Given the description of an element on the screen output the (x, y) to click on. 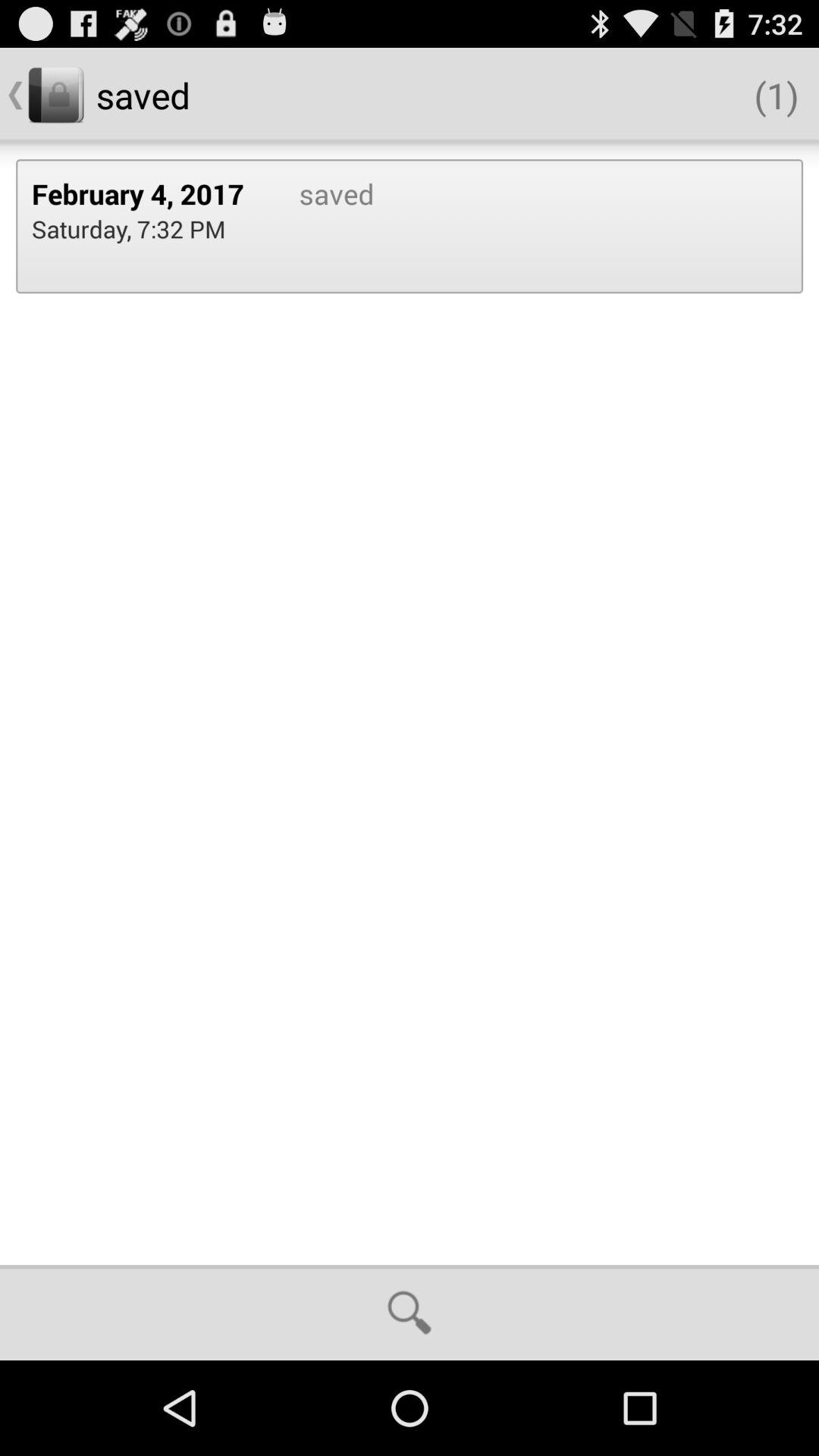
press the item below february 4, 2017 item (128, 228)
